Given the description of an element on the screen output the (x, y) to click on. 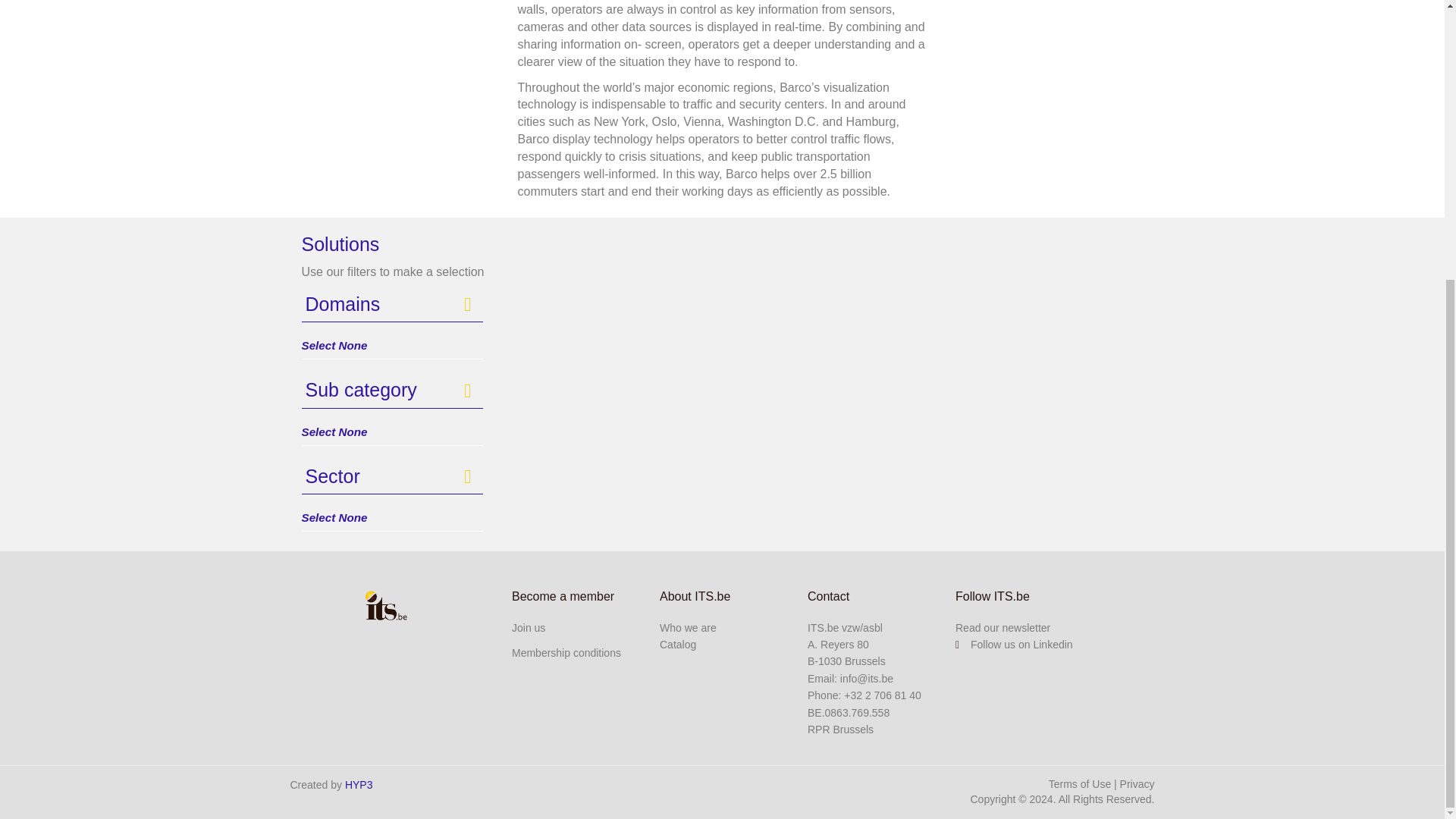
Membership conditions (566, 653)
Select None (392, 432)
Catalog (677, 644)
Select None (392, 346)
HYP3 (358, 784)
Read our newsletter (1002, 627)
Who we are (687, 627)
Follow us on Linkedin (1014, 644)
Join us (528, 627)
Select None (392, 518)
